Given the description of an element on the screen output the (x, y) to click on. 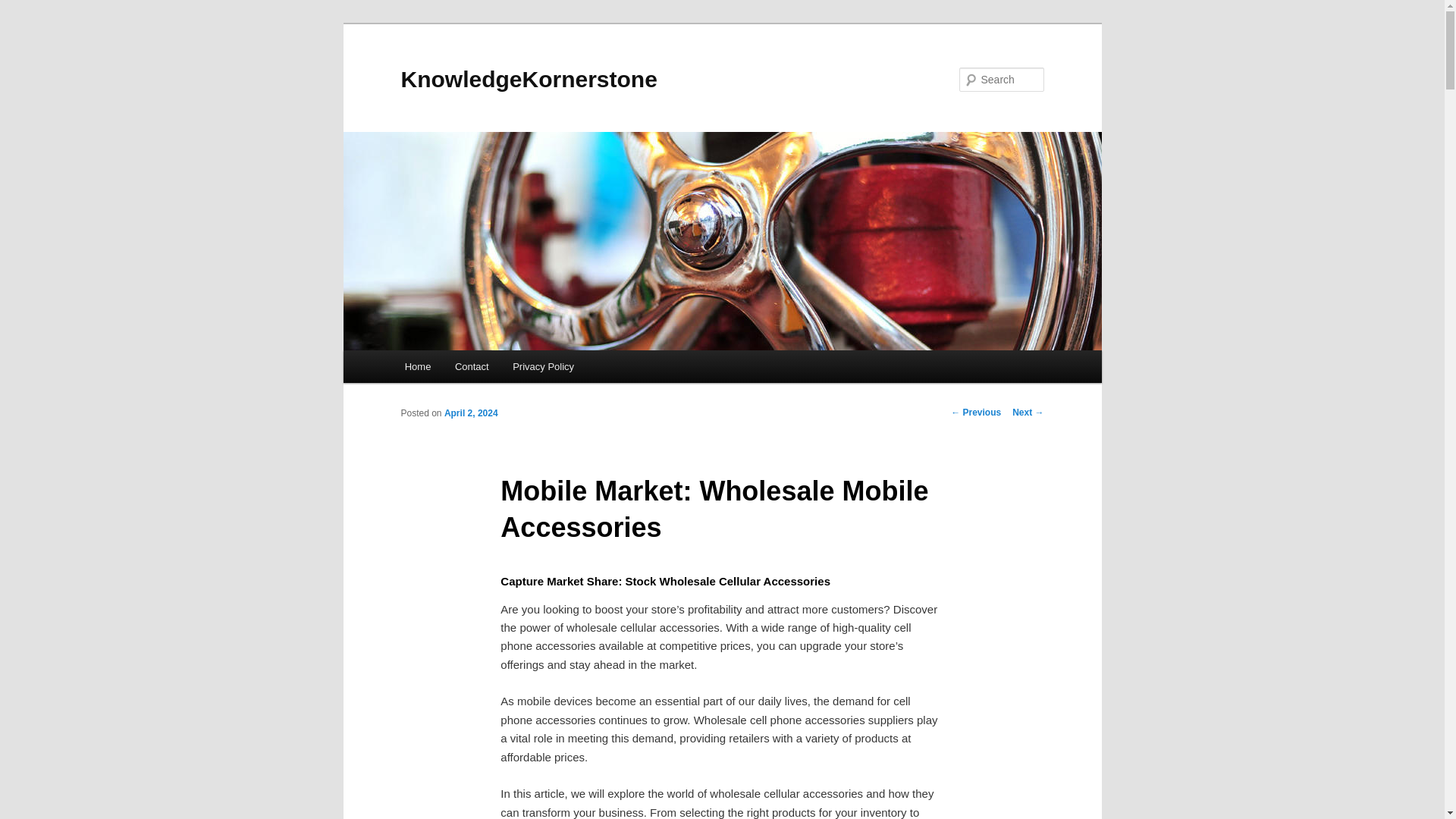
7:01 pm (470, 412)
Search (24, 8)
Privacy Policy (542, 366)
KnowledgeKornerstone (528, 78)
Contact (471, 366)
Home (417, 366)
April 2, 2024 (470, 412)
